Given the description of an element on the screen output the (x, y) to click on. 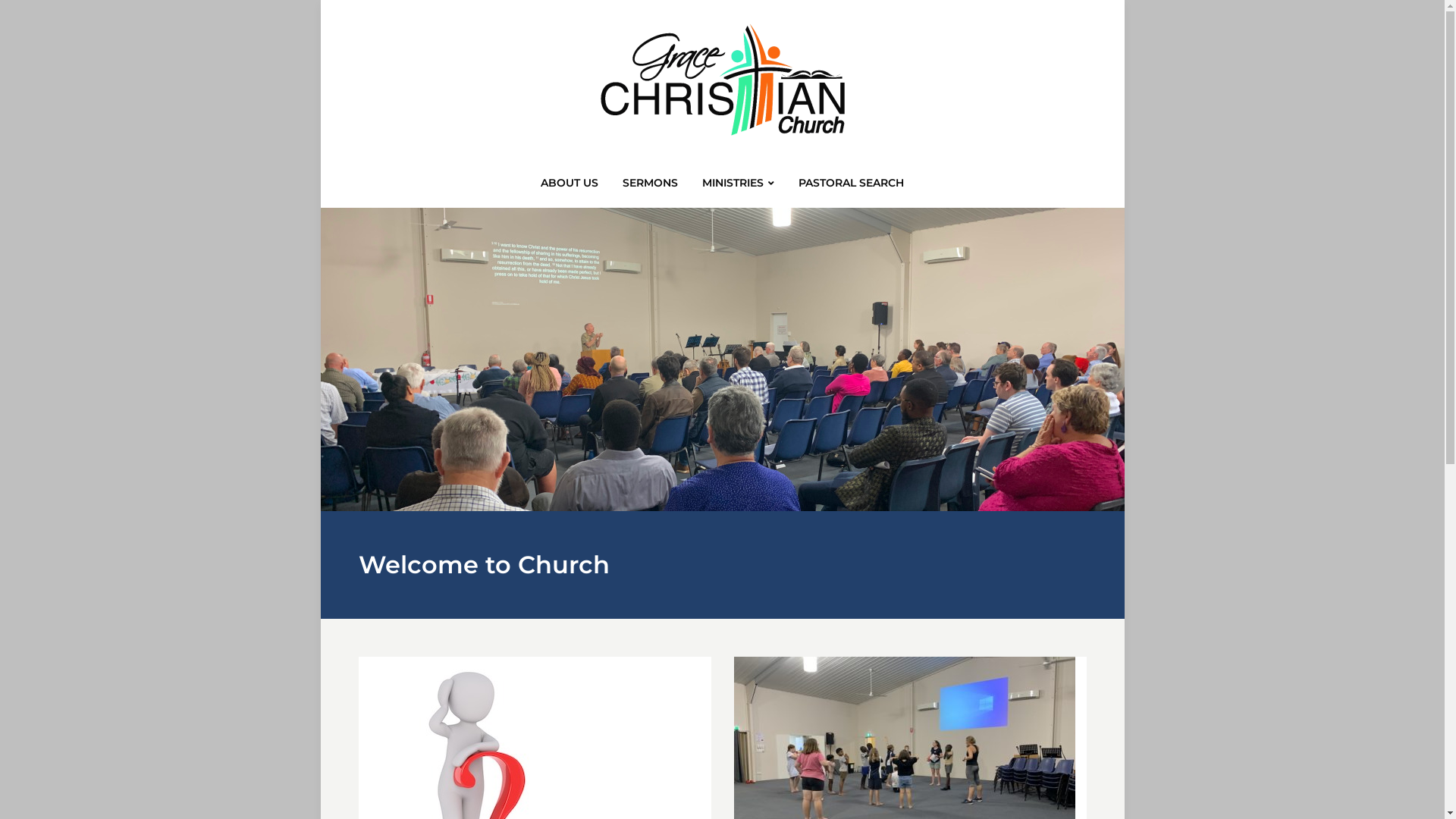
ABOUT US Element type: text (569, 187)
PASTORAL SEARCH Element type: text (850, 187)
SERMONS Element type: text (649, 187)
MINISTRIES Element type: text (738, 187)
